Given the description of an element on the screen output the (x, y) to click on. 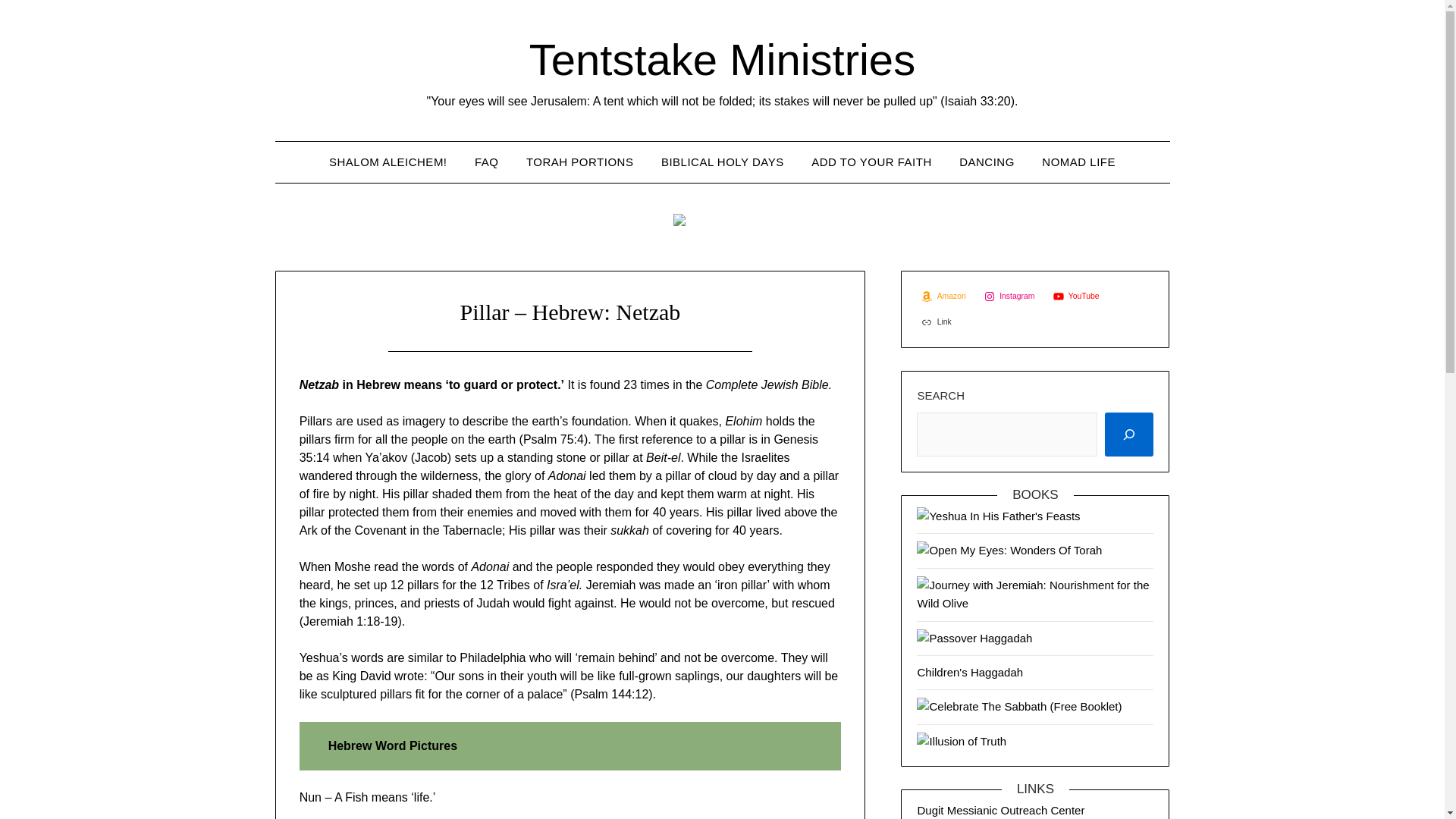
BIBLICAL HOLY DAYS (722, 161)
SHALOM ALEICHEM! (388, 161)
FAQ (487, 161)
TORAH PORTIONS (579, 161)
ADD TO YOUR FAITH (871, 161)
Tentstake Ministries (722, 59)
